Given the description of an element on the screen output the (x, y) to click on. 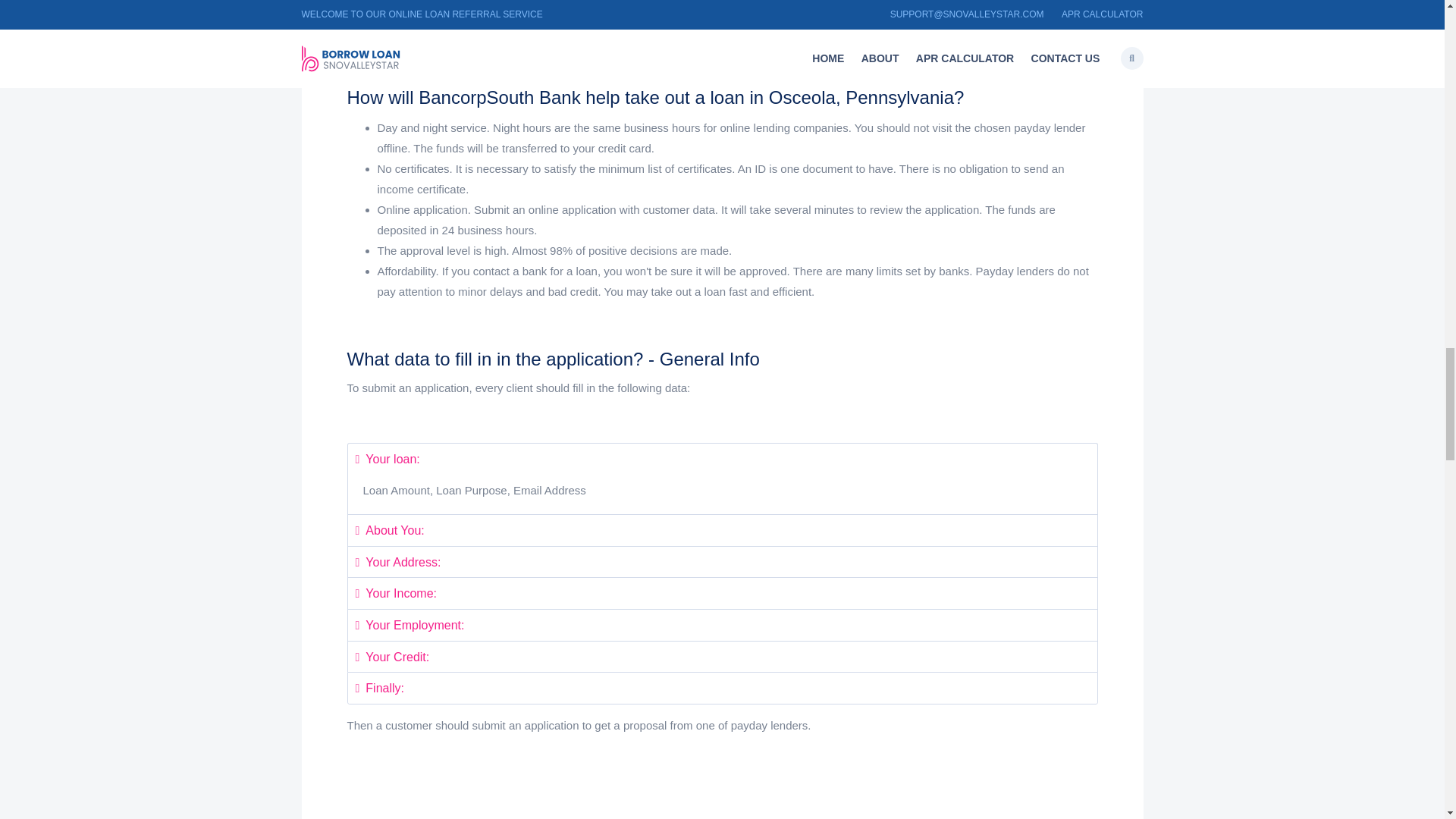
Your Income: (395, 593)
Your Credit: (392, 656)
About You: (389, 530)
Your Address: (398, 562)
Your Employment: (409, 625)
Your loan: (387, 459)
Finally: (379, 687)
